Given the description of an element on the screen output the (x, y) to click on. 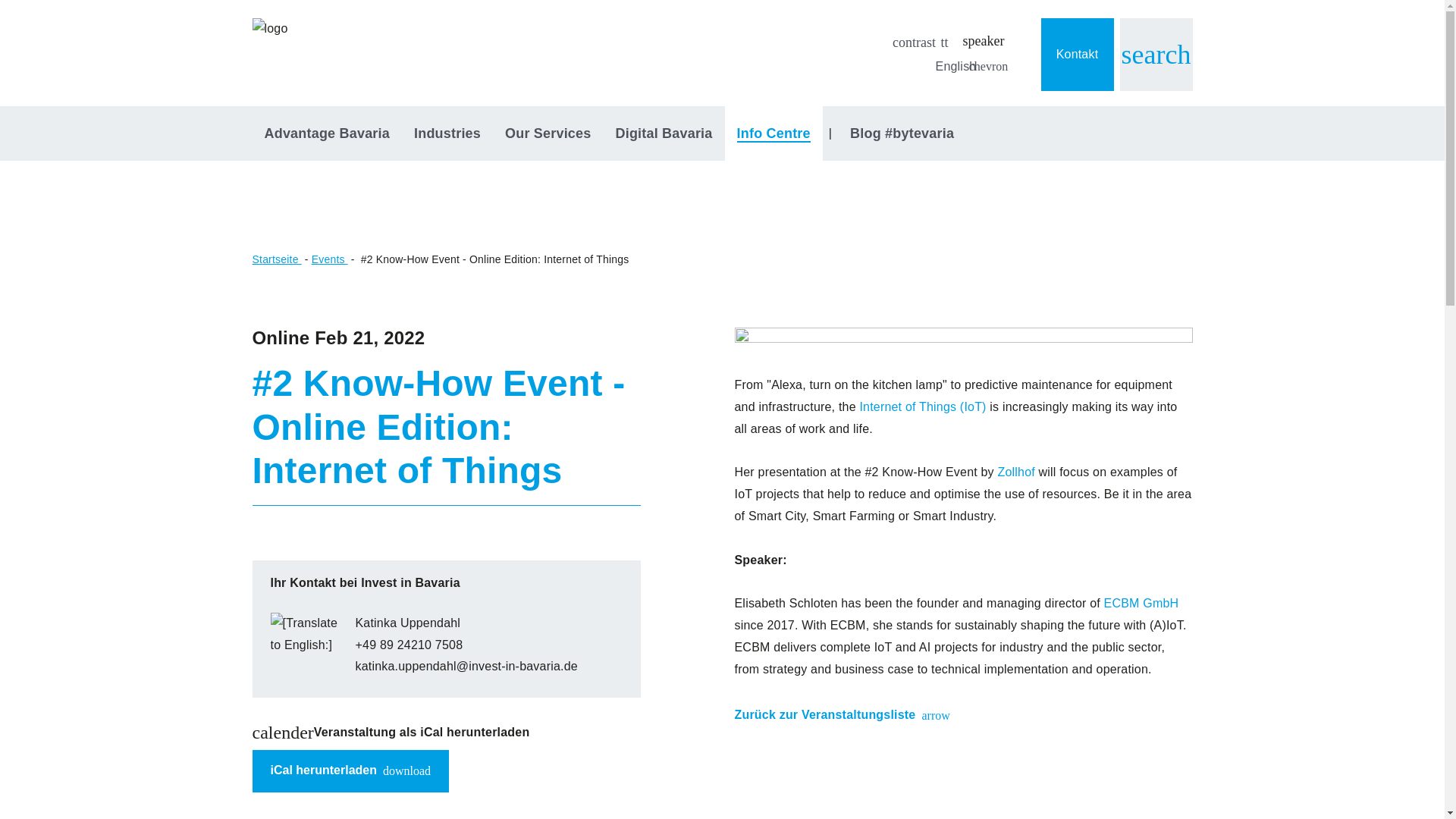
chevron (987, 66)
speaker (983, 41)
tt (944, 42)
Info Centre (773, 133)
Kontakt (1077, 54)
Industries (349, 771)
Digital Bavaria (447, 133)
iCal herunterladen (662, 133)
Startseite (322, 771)
Events (276, 259)
contrast (329, 259)
search (914, 42)
Zollhof (1155, 54)
ECBM GmbH (1017, 472)
